Given the description of an element on the screen output the (x, y) to click on. 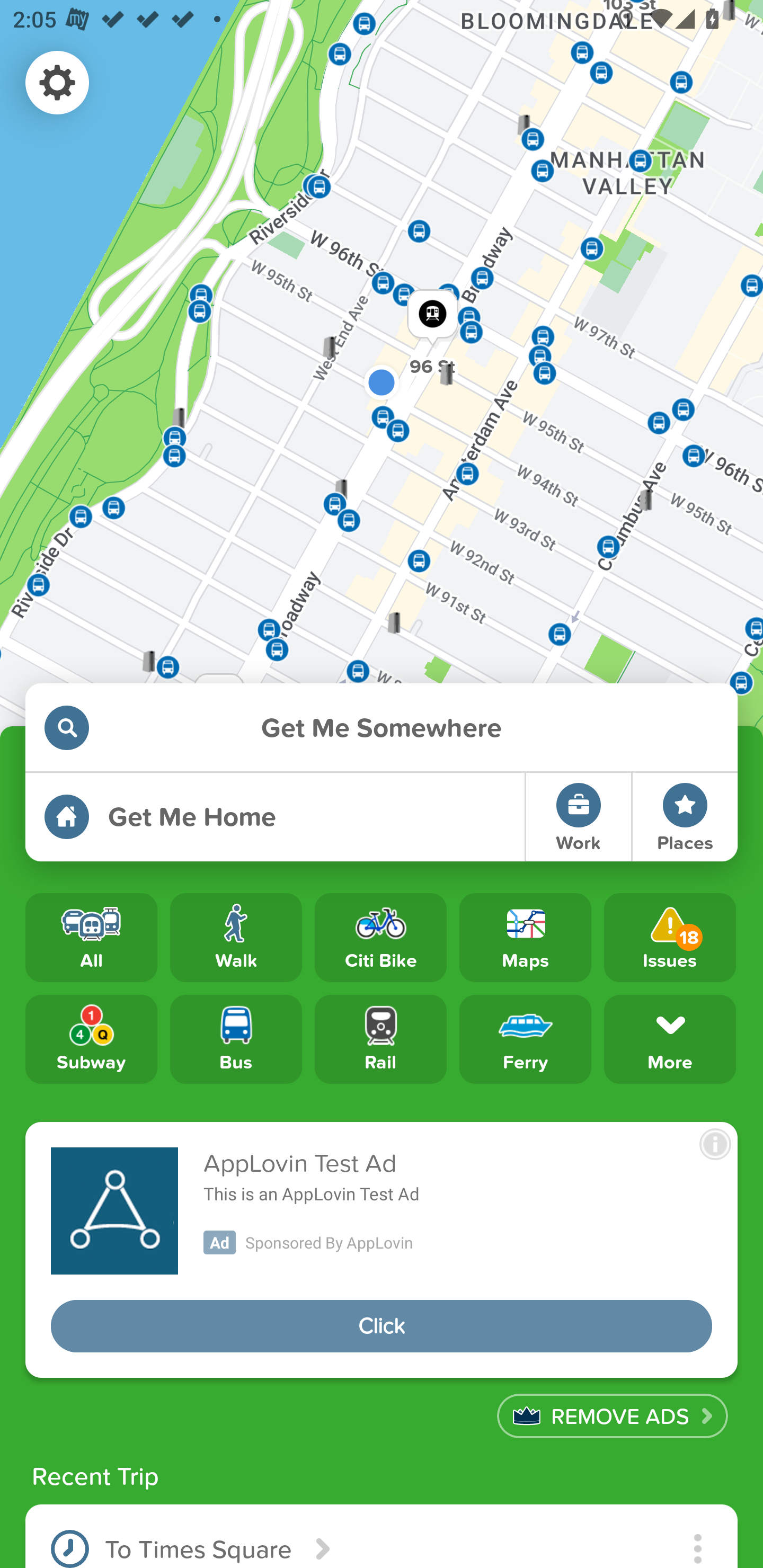
Get Me Home (274, 816)
